Given the description of an element on the screen output the (x, y) to click on. 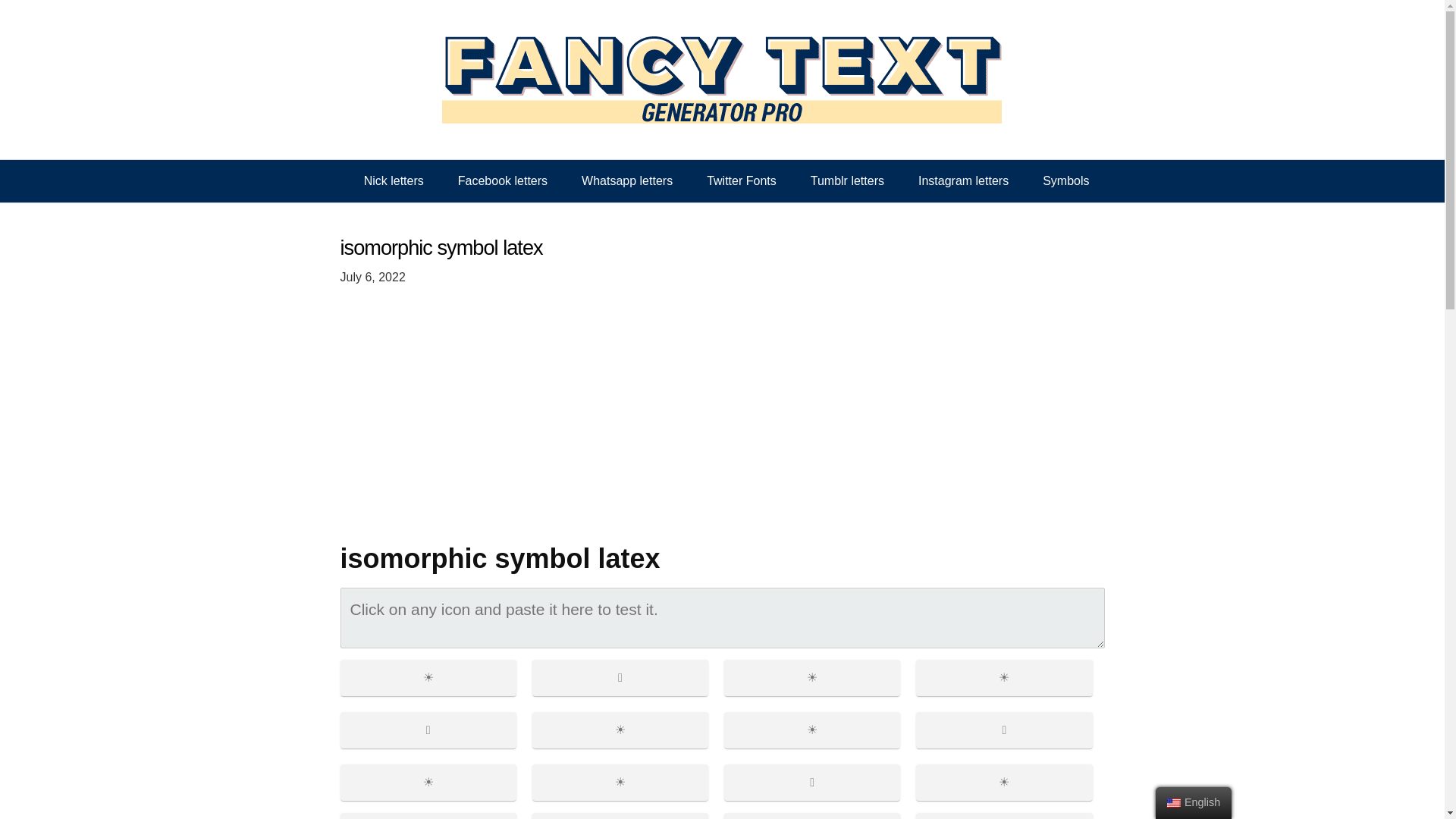
Facebook letters (502, 180)
Twitter Fonts (741, 180)
Whatsapp letters (626, 180)
Tumblr letters (846, 180)
Instagram letters (962, 180)
Symbols (1065, 180)
Nick letters (394, 180)
English (1173, 802)
